Given the description of an element on the screen output the (x, y) to click on. 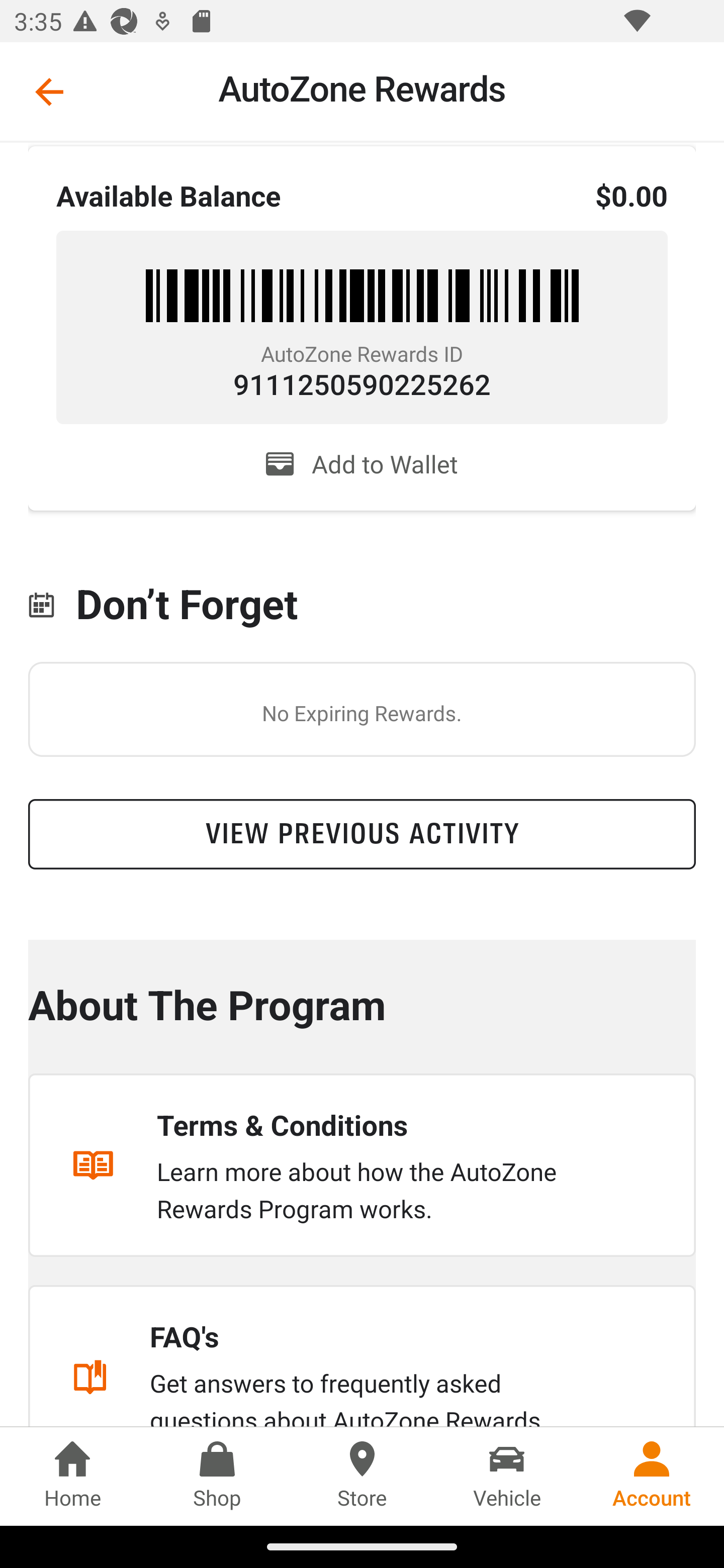
back-button  (49, 91)
Add to Wallet (361, 463)
VIEW PREVIOUS ACTIVITY (361, 833)
Home (72, 1475)
Shop (216, 1475)
Store (361, 1475)
Vehicle (506, 1475)
Account (651, 1475)
